Given the description of an element on the screen output the (x, y) to click on. 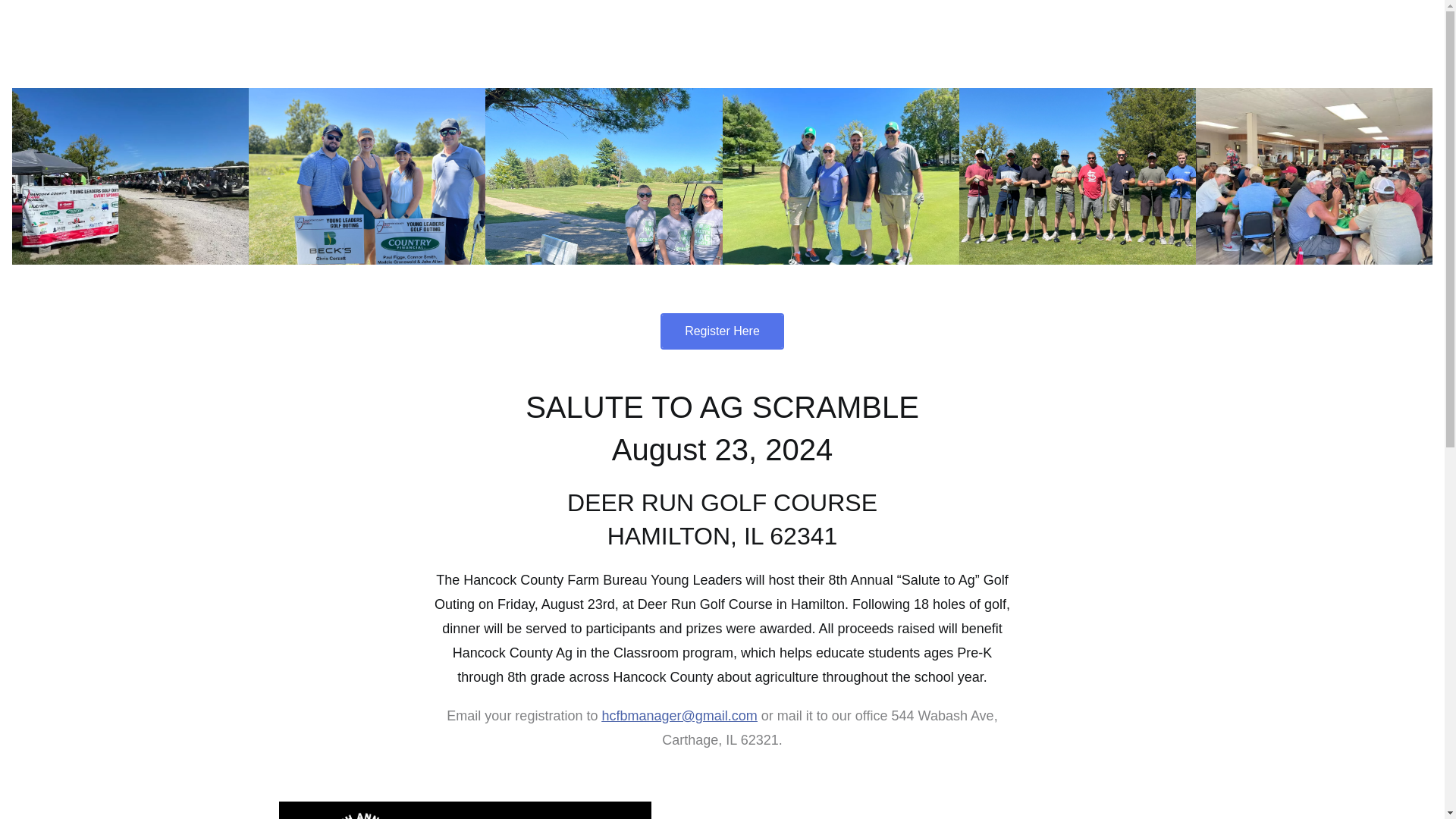
Register Here (722, 330)
